Given the description of an element on the screen output the (x, y) to click on. 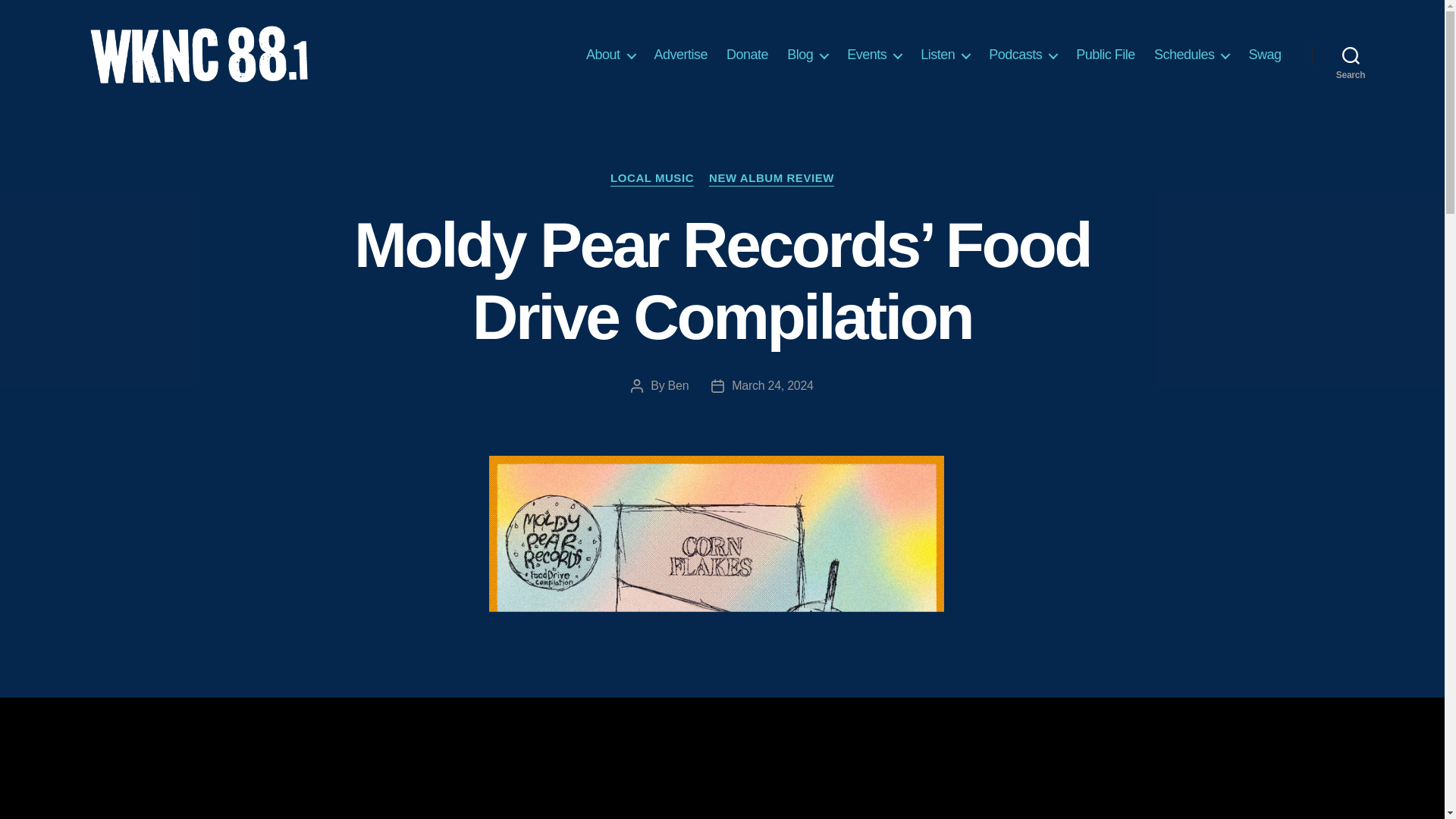
Donate (747, 54)
Advertise (680, 54)
Events (874, 54)
Listen (944, 54)
Blog (807, 54)
About (610, 54)
